Given the description of an element on the screen output the (x, y) to click on. 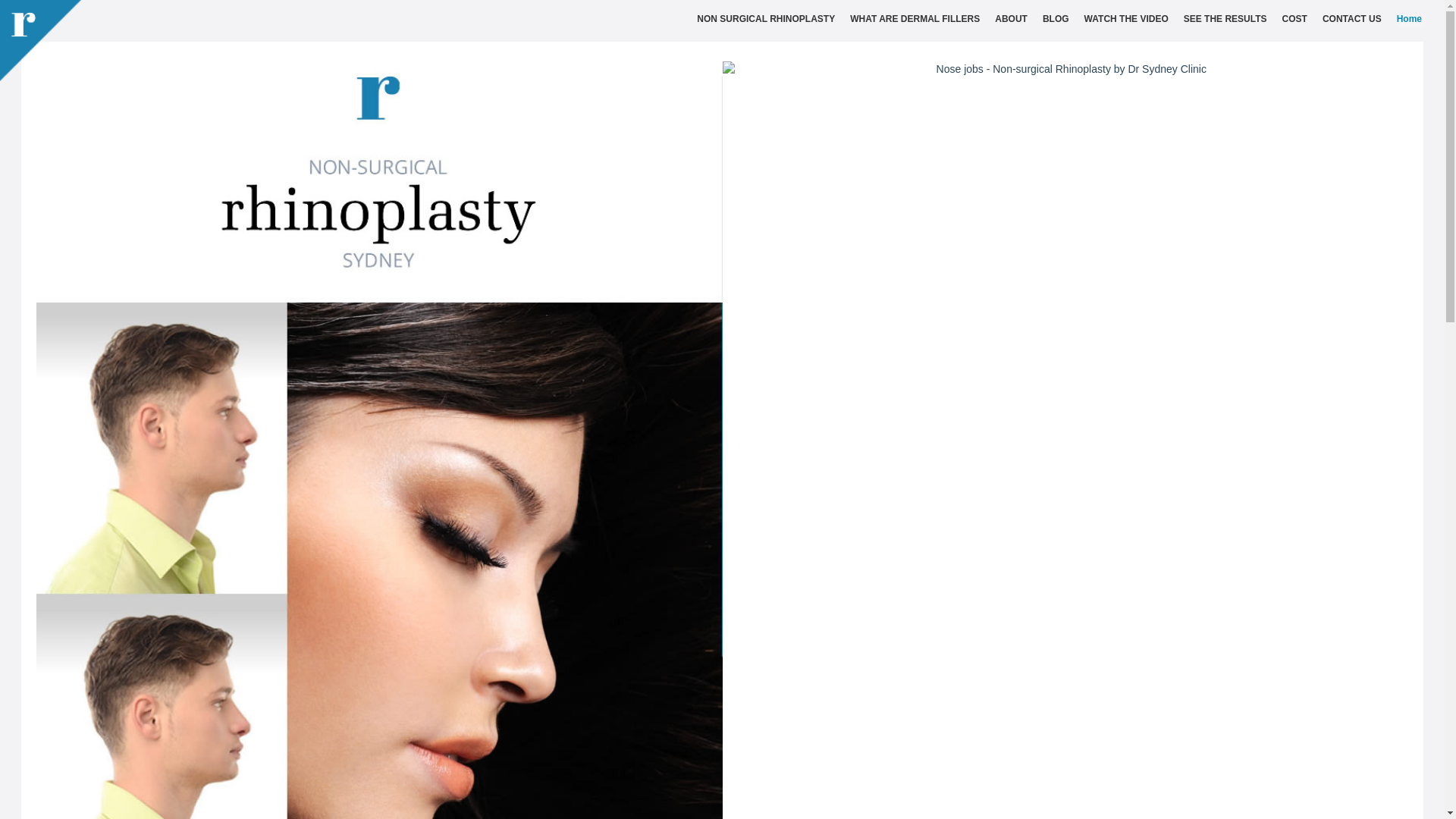
BLOG Element type: text (1055, 18)
SEE THE RESULTS Element type: text (1225, 18)
COST Element type: text (1294, 18)
Home Element type: text (1408, 18)
WHAT ARE DERMAL FILLERS Element type: text (914, 18)
NON SURGICAL RHINOPLASTY Element type: text (765, 18)
CONTACT US Element type: text (1351, 18)
WATCH THE VIDEO Element type: text (1126, 18)
